Given the description of an element on the screen output the (x, y) to click on. 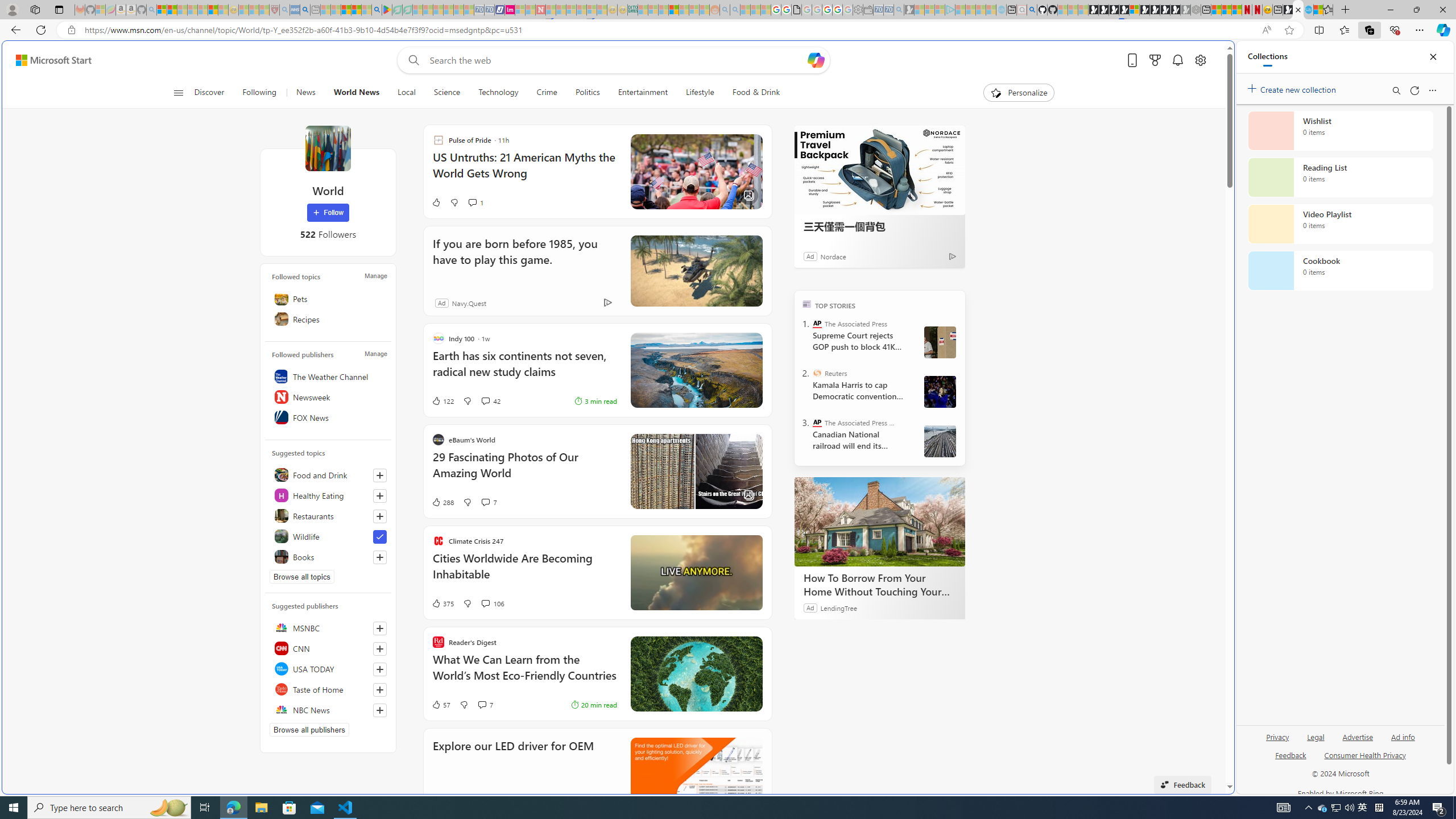
View comments 106 Comment (492, 603)
utah sues federal government - Search (922, 389)
